Given the description of an element on the screen output the (x, y) to click on. 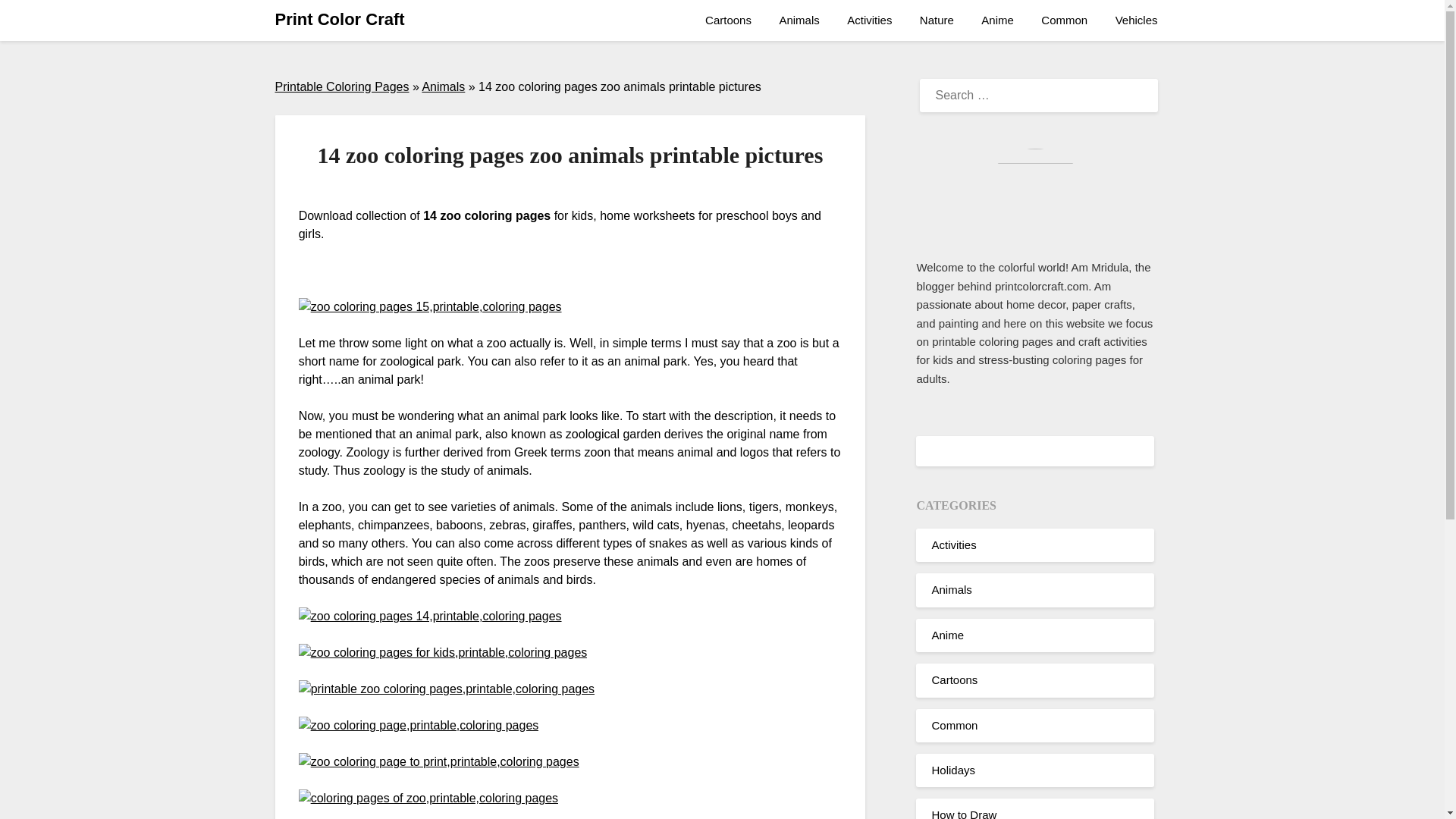
zoo coloring pages (438, 761)
Activities (869, 20)
Common (1064, 20)
zoo coloring pages (430, 616)
Animals (951, 589)
Print Color Craft (339, 19)
Printable Coloring Pages (342, 86)
Vehicles (1136, 20)
zoo coloring pages (446, 689)
zoo coloring pages (427, 798)
Common (953, 725)
How to Draw (963, 813)
Cartoons (953, 679)
Animals (799, 20)
Animals (443, 86)
